Given the description of an element on the screen output the (x, y) to click on. 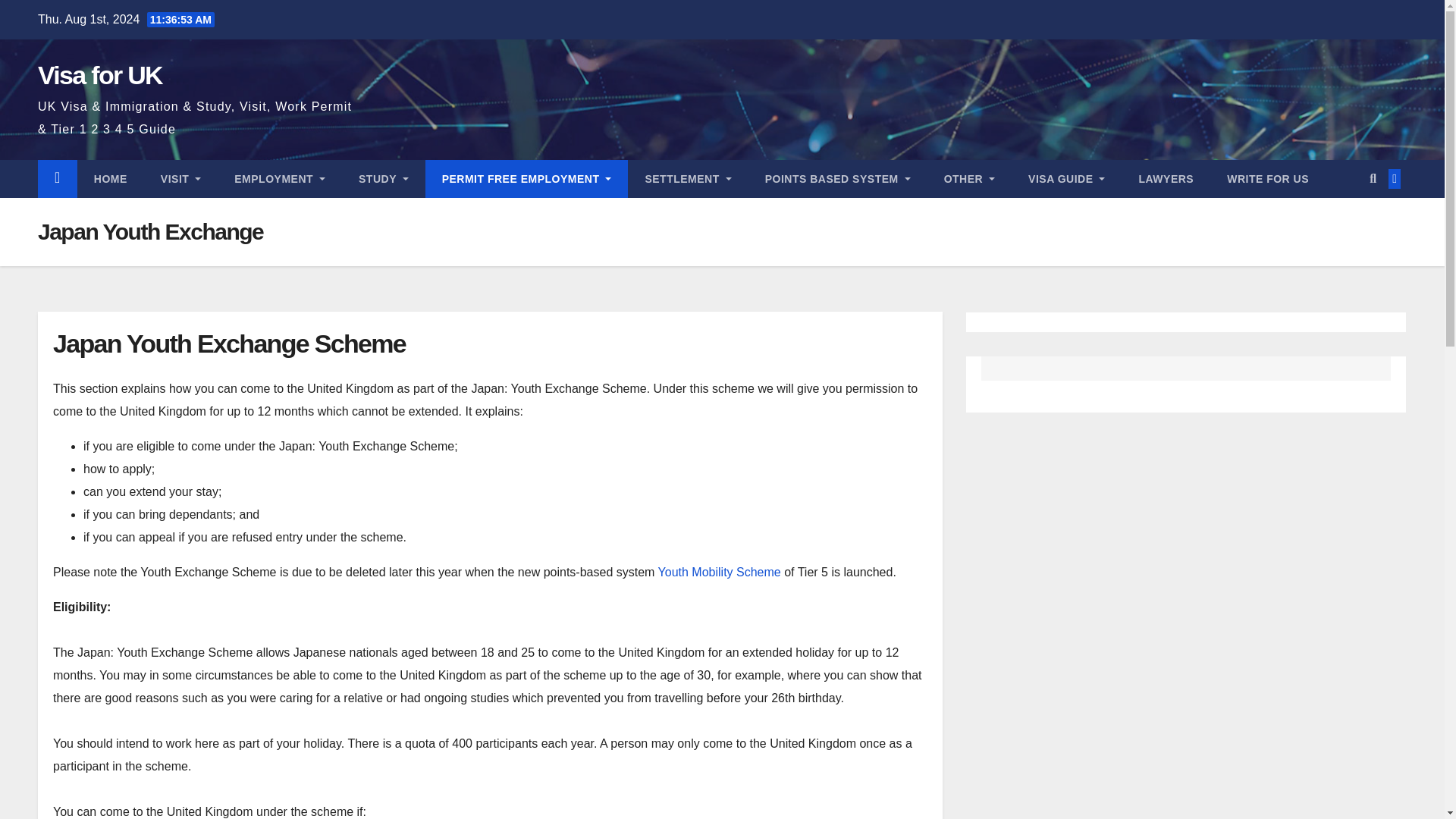
EMPLOYMENT (279, 178)
Home (110, 178)
VISIT (180, 178)
Visa for UK (99, 74)
Visit (180, 178)
HOME (110, 178)
